Given the description of an element on the screen output the (x, y) to click on. 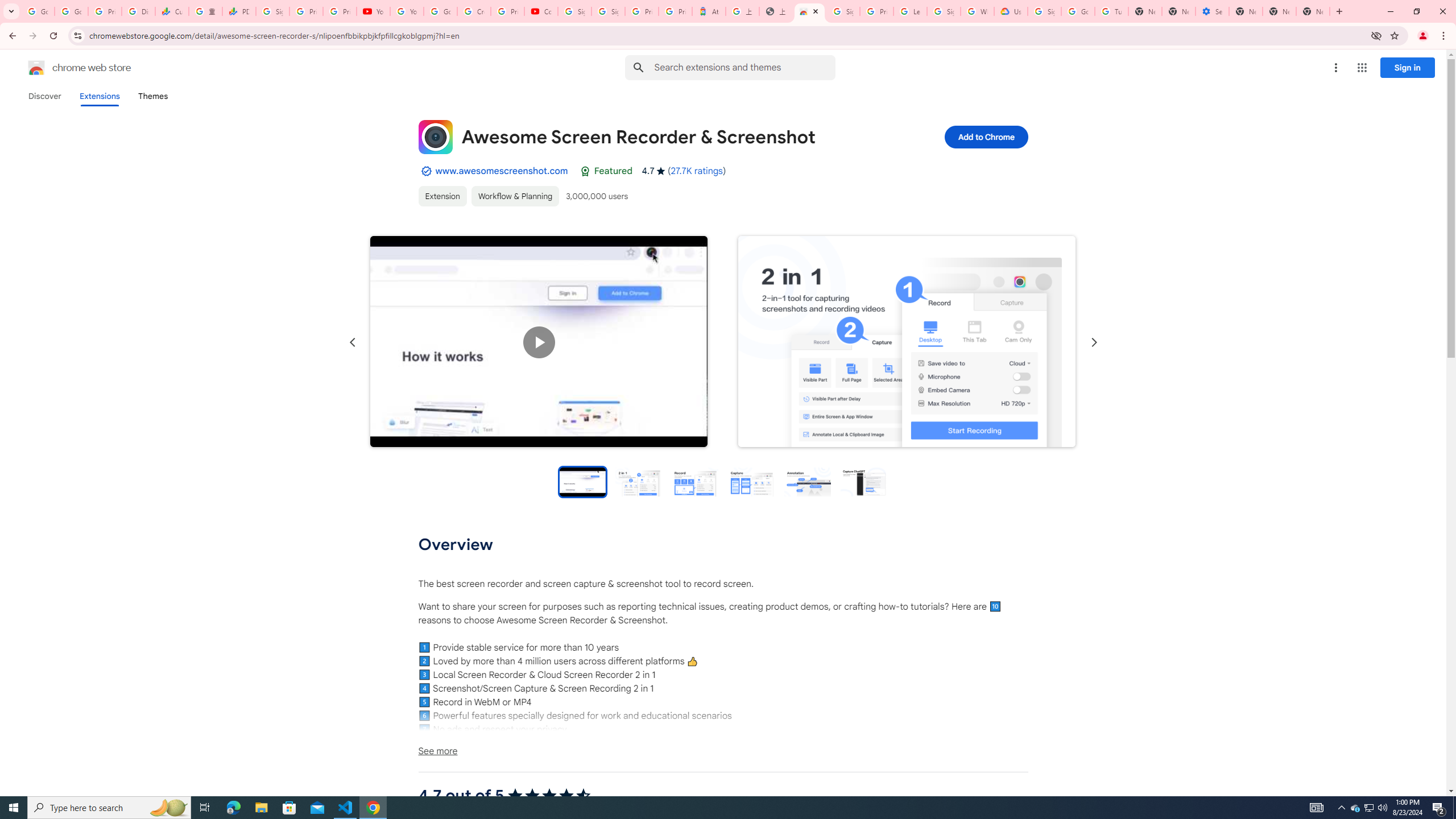
Item video thumbnail (582, 481)
Content Creator Programs & Opportunities - YouTube Creators (541, 11)
By Established Publisher Badge (425, 170)
Turn cookies on or off - Computer - Google Account Help (1111, 11)
Sign in - Google Accounts (608, 11)
Previous slide (352, 342)
